Given the description of an element on the screen output the (x, y) to click on. 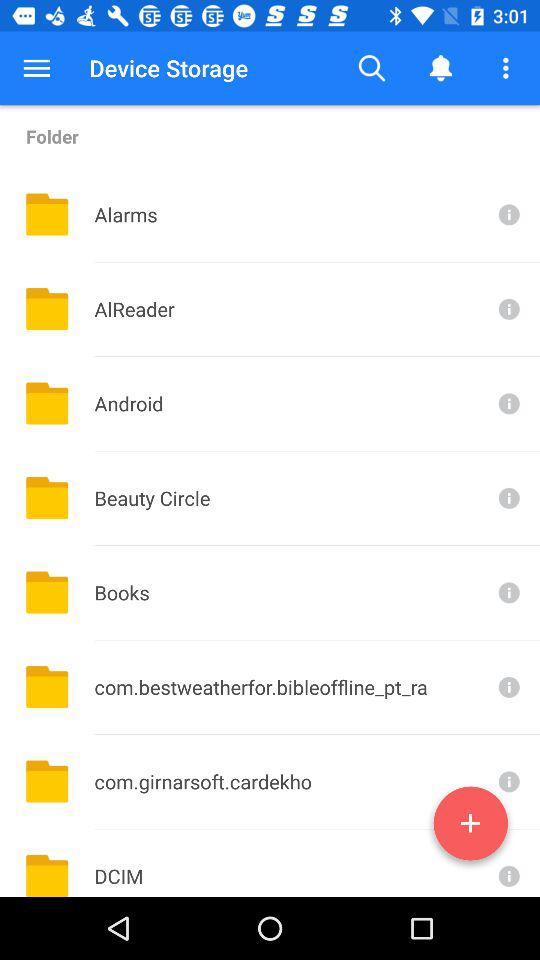
information (507, 308)
